Given the description of an element on the screen output the (x, y) to click on. 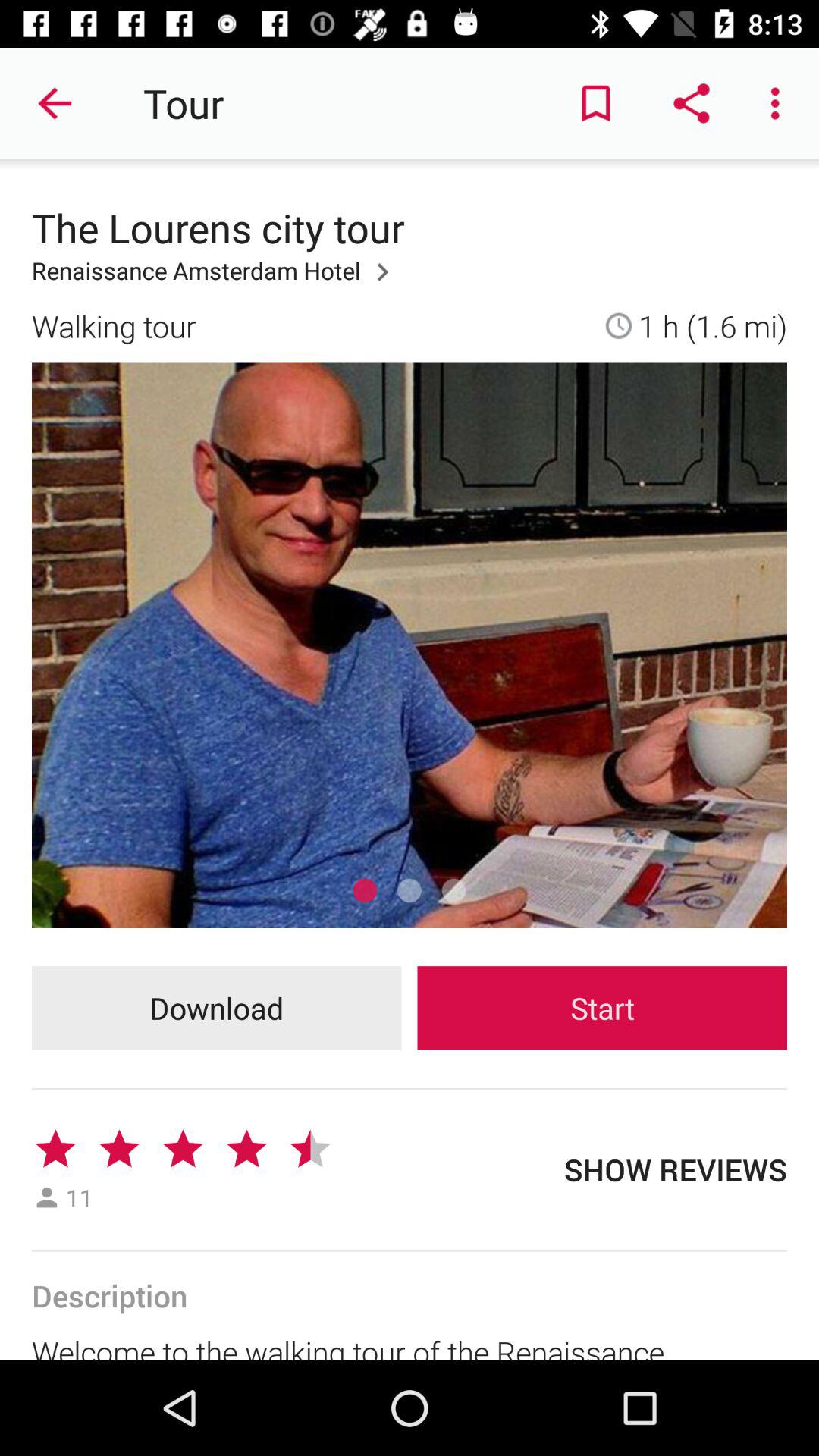
turn off item next to tour icon (55, 103)
